Given the description of an element on the screen output the (x, y) to click on. 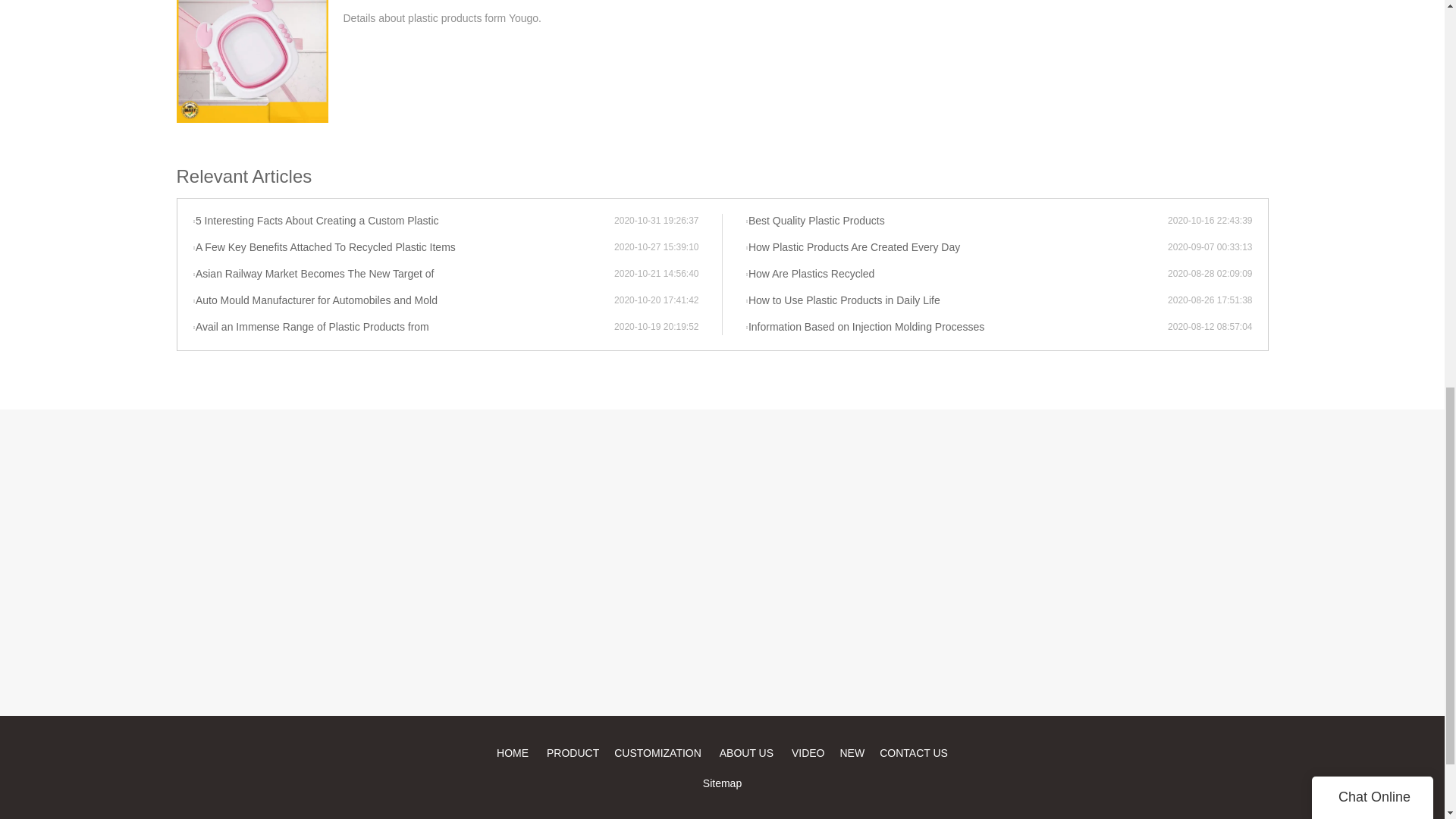
5 Interesting Facts About Creating a Custom Plastic (403, 221)
Best Quality Plastic Products (955, 221)
Auto Mould Manufacturer for Automobiles and Mold (403, 300)
How Plastic Products Are Created Every Day (955, 247)
Avail an Immense Range of Plastic Products from (403, 327)
Asian Railway Market Becomes The New Target of (403, 273)
How to Use Plastic Products in Daily Life (955, 300)
A Few Key Benefits Attached To Recycled Plastic Items (403, 247)
Information Based on Injection Molding Processes (955, 327)
How Are Plastics Recycled (955, 273)
